Given the description of an element on the screen output the (x, y) to click on. 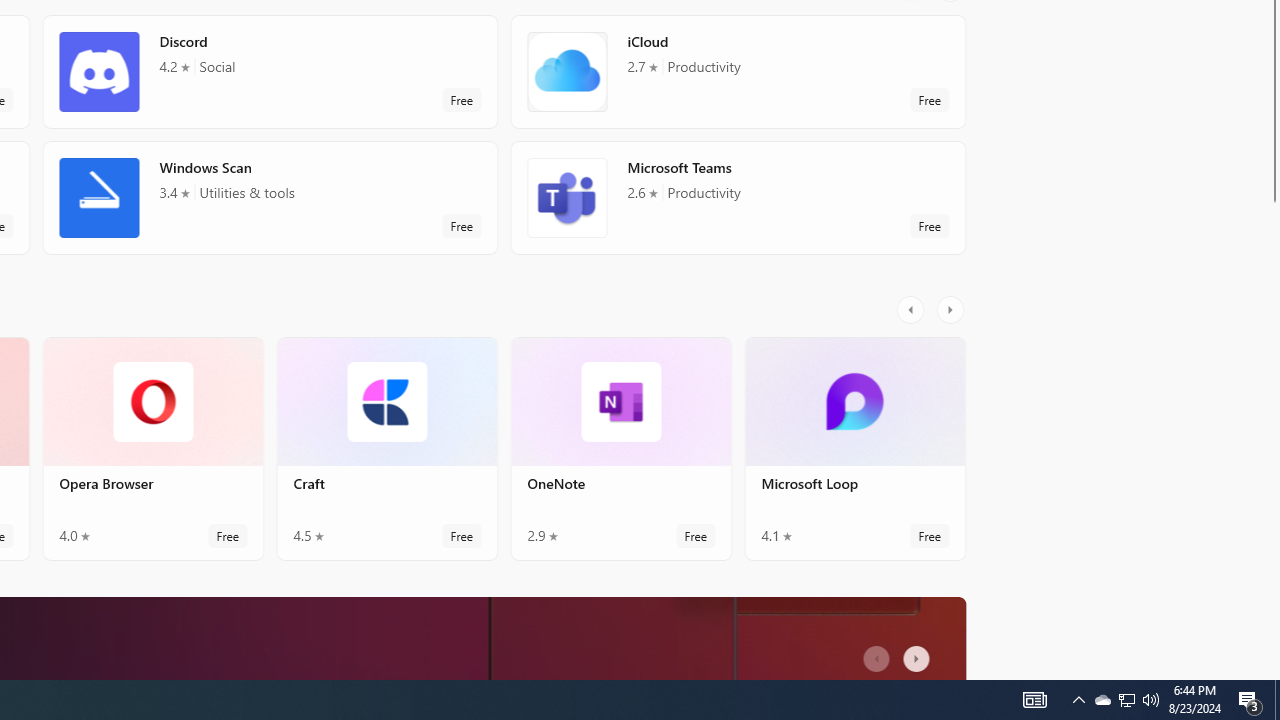
iCloud. Average rating of 2.7 out of five stars. Free   (737, 79)
AutomationID: LeftScrollButton (878, 659)
Vertical Large Increase (1272, 411)
Vertical Small Increase (1272, 672)
Discord. Average rating of 4.2 out of five stars. Free   (269, 79)
AutomationID: RightScrollButton (919, 659)
